Given the description of an element on the screen output the (x, y) to click on. 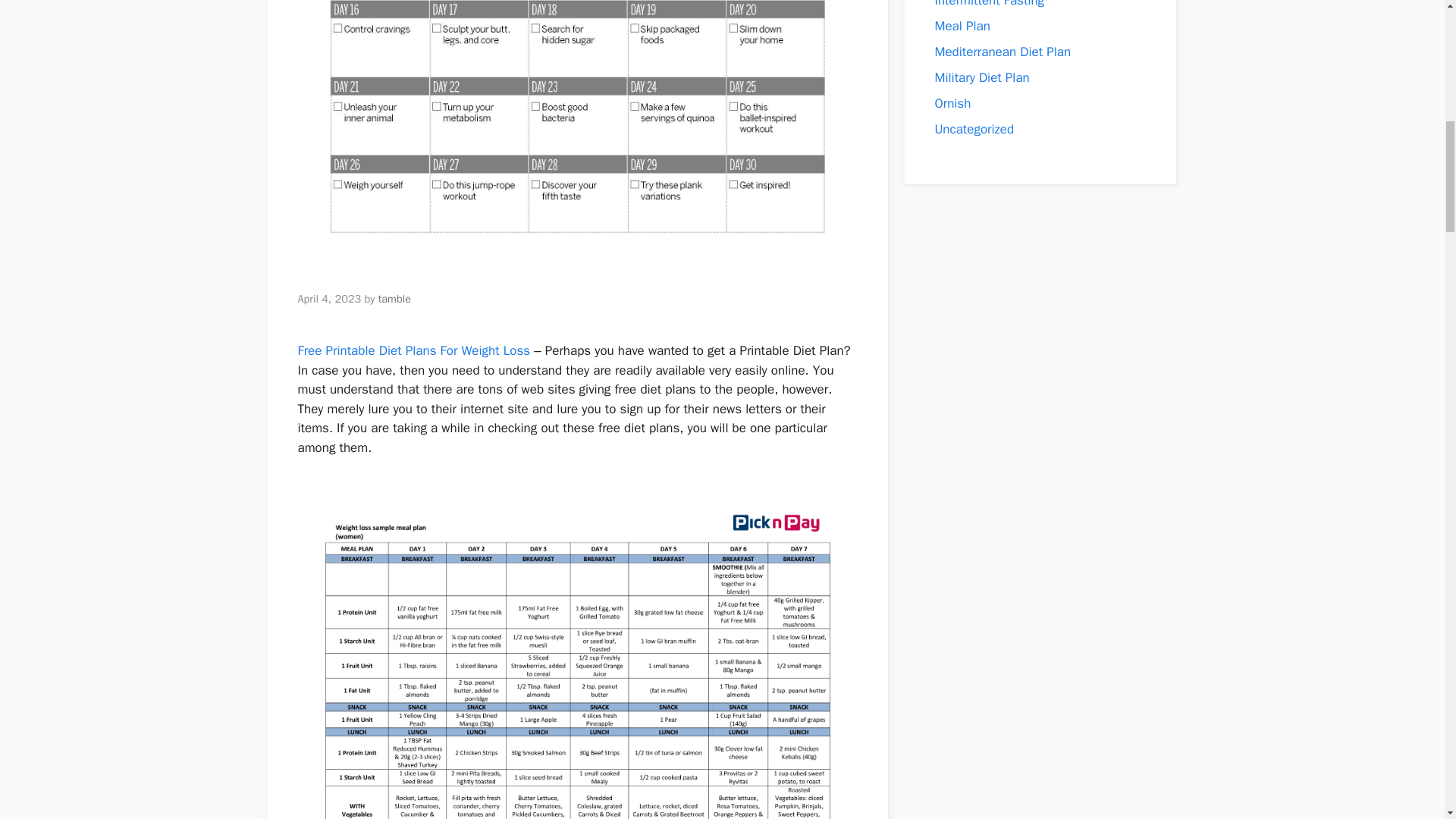
Free Printable Diet Plans For Weight Loss (413, 350)
Uncategorized (973, 129)
tamble (394, 298)
Ornish (952, 103)
Military Diet Plan (981, 77)
Meal Plan (962, 26)
Mediterranean Diet Plan (1002, 51)
Intermittent Fasting (988, 4)
View all posts by tamble (394, 298)
